Given the description of an element on the screen output the (x, y) to click on. 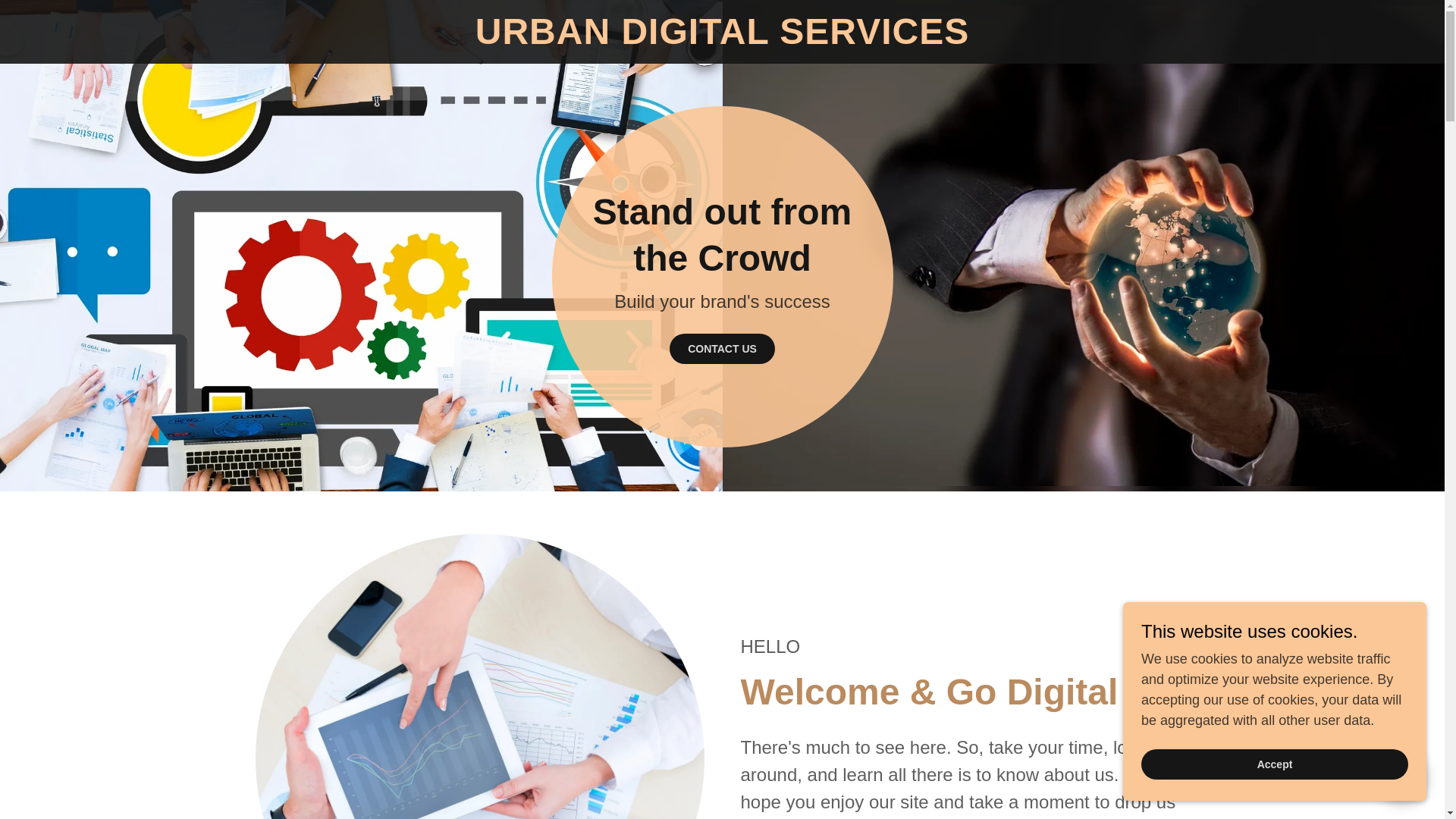
URBAN DIGITAL SERVICES (721, 38)
URBAN DIGITAL SERVICES (721, 38)
Accept (1274, 764)
CONTACT US (721, 348)
